Given the description of an element on the screen output the (x, y) to click on. 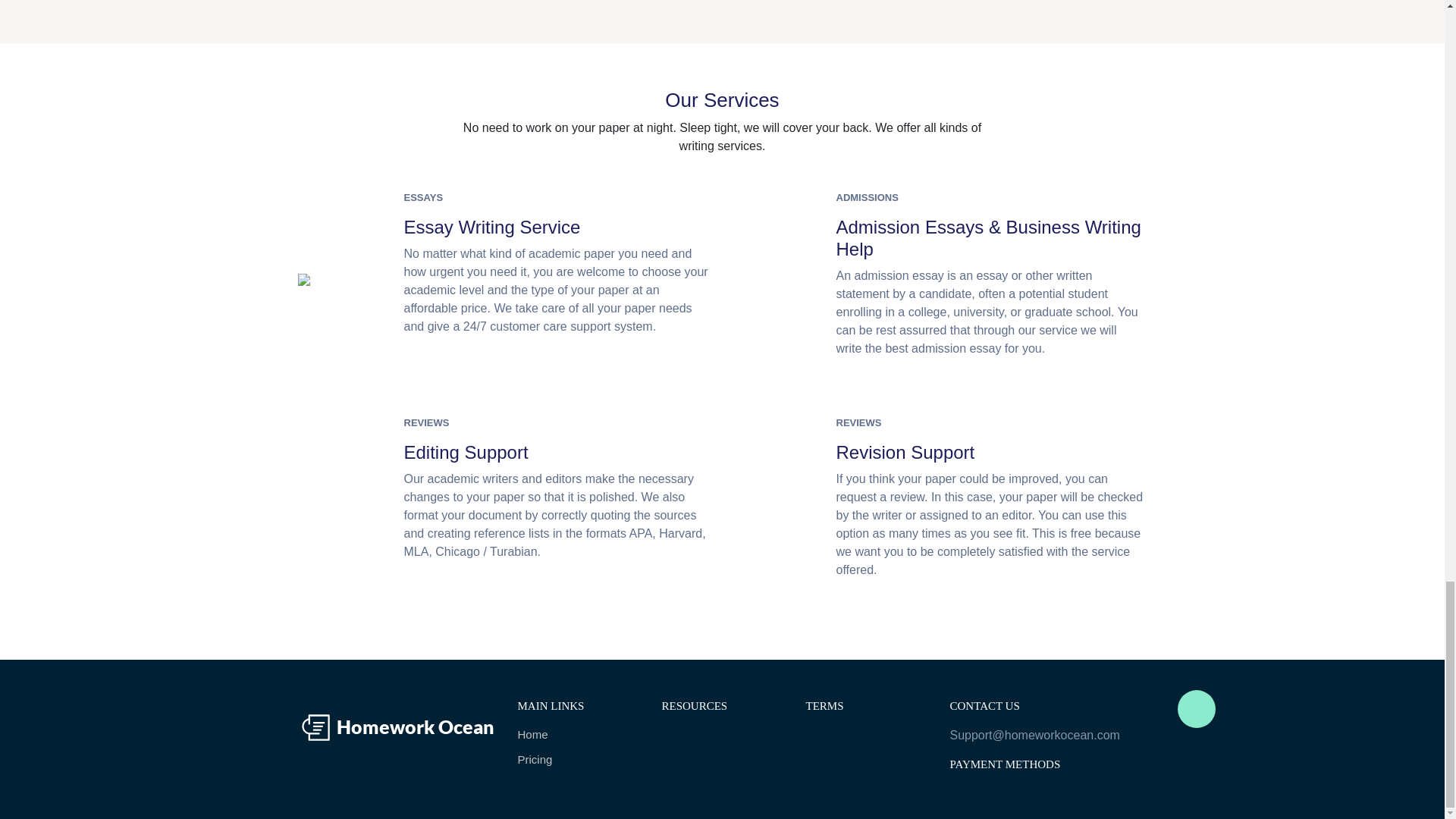
Home (577, 734)
Pricing (577, 760)
Home (577, 734)
Pricing (577, 760)
